Given the description of an element on the screen output the (x, y) to click on. 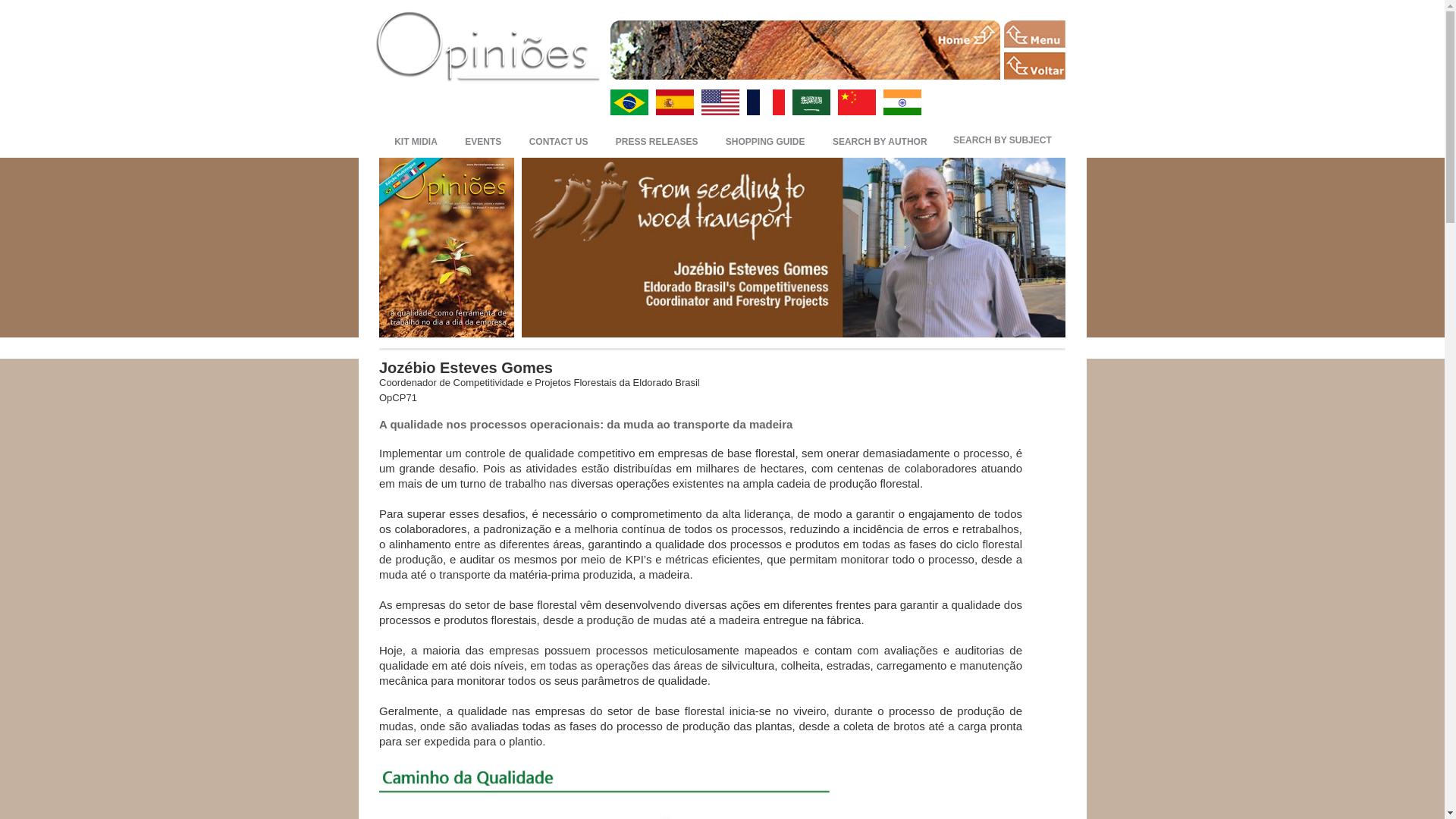
SHOPPING GUIDE (764, 140)
PRESS RELEASES (656, 140)
ZH-CN (856, 102)
CONTACT US (558, 140)
HI (901, 102)
AR (810, 102)
FR (764, 102)
SEARCH BY SUBJECT (1002, 140)
ES (674, 102)
US (719, 102)
